Given the description of an element on the screen output the (x, y) to click on. 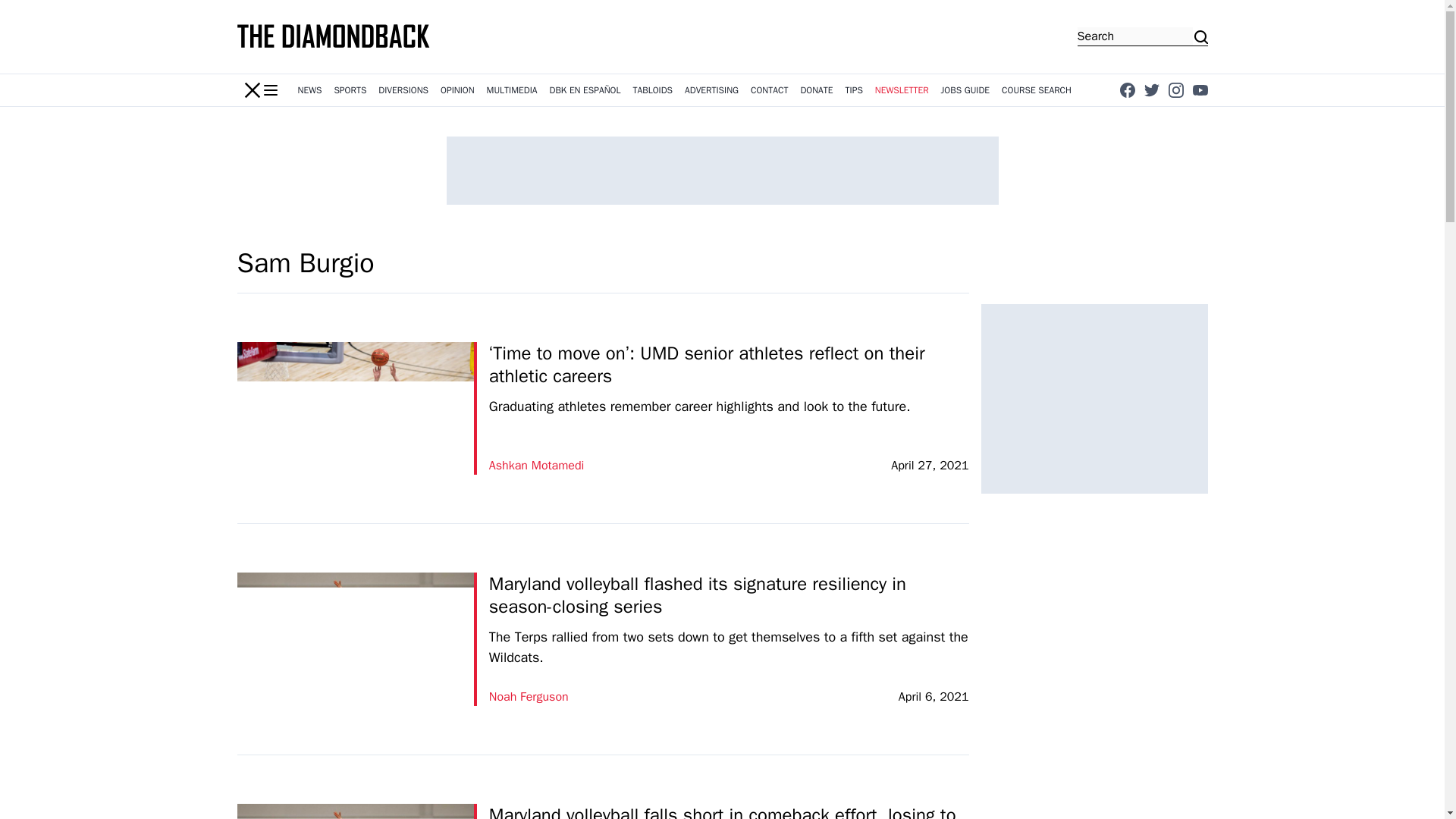
Newsletter (901, 90)
COURSE SEARCH (1036, 90)
Jobs Guide (964, 90)
The Diamondback (332, 36)
The Diamondback on Facebook (1126, 89)
Course Search (1036, 90)
DIVERSIONS (402, 90)
Donate (815, 90)
Contact (768, 90)
ADVERTISING (711, 90)
Tips (854, 90)
Sports (349, 90)
TABLOIDS (652, 90)
CONTACT (768, 90)
SPORTS (349, 90)
